Given the description of an element on the screen output the (x, y) to click on. 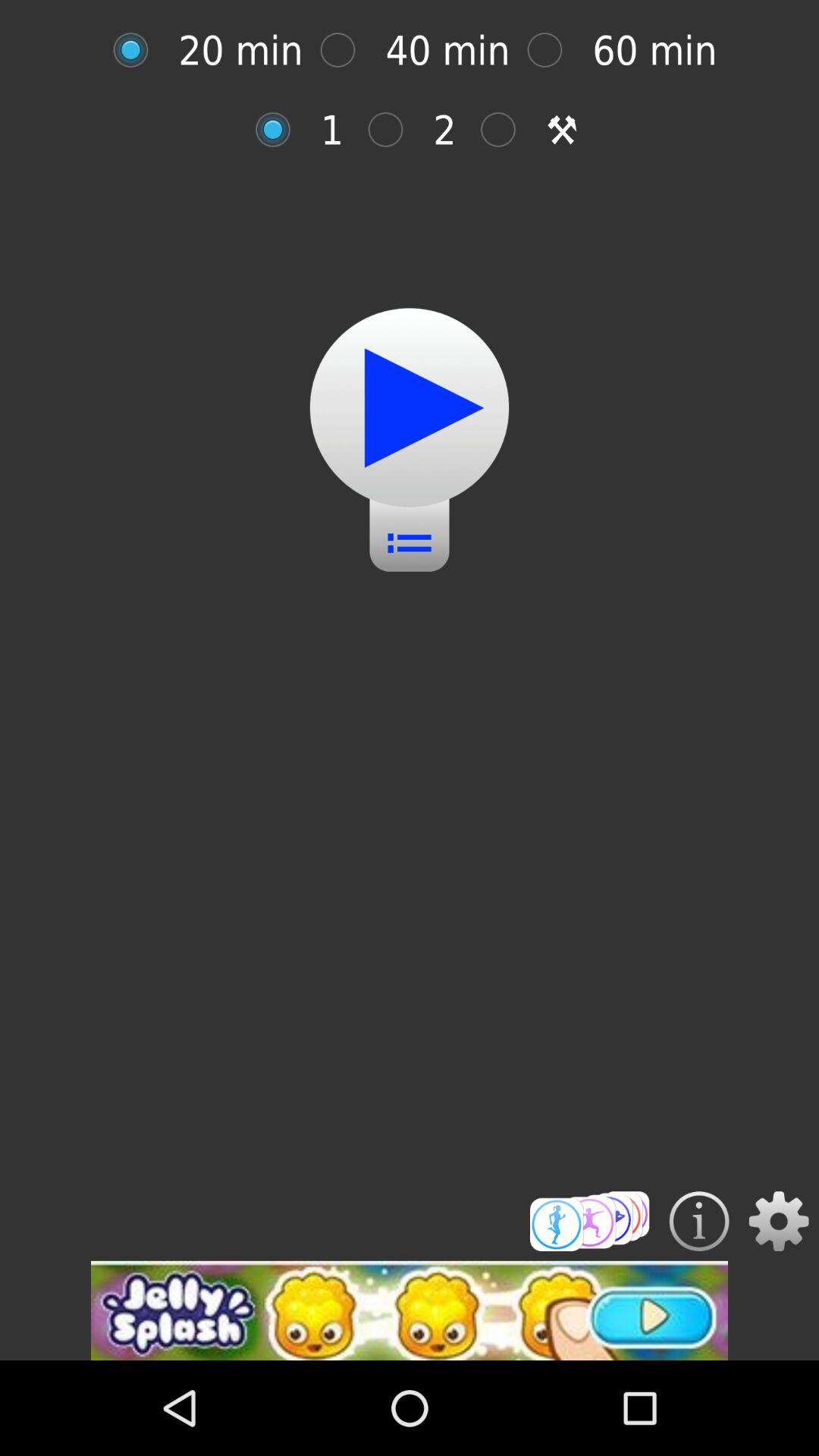
select page (345, 49)
